Given the description of an element on the screen output the (x, y) to click on. 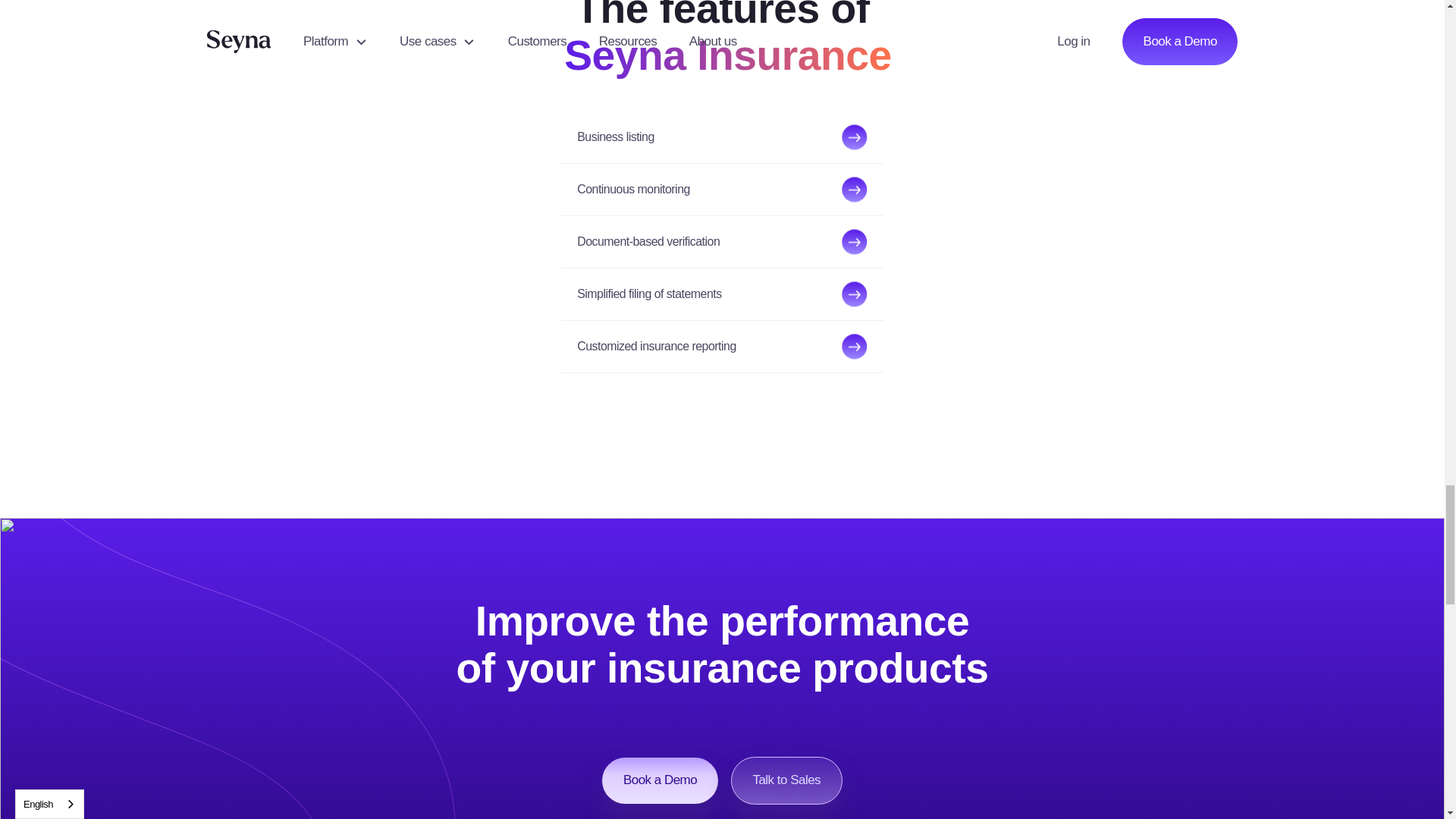
Business listing (721, 136)
Talk to Sales (786, 780)
Document-based verification (721, 241)
Book a Demo (659, 779)
Simplified filing of statements (721, 294)
Continuous monitoring (721, 189)
Customized insurance reporting (721, 346)
